Given the description of an element on the screen output the (x, y) to click on. 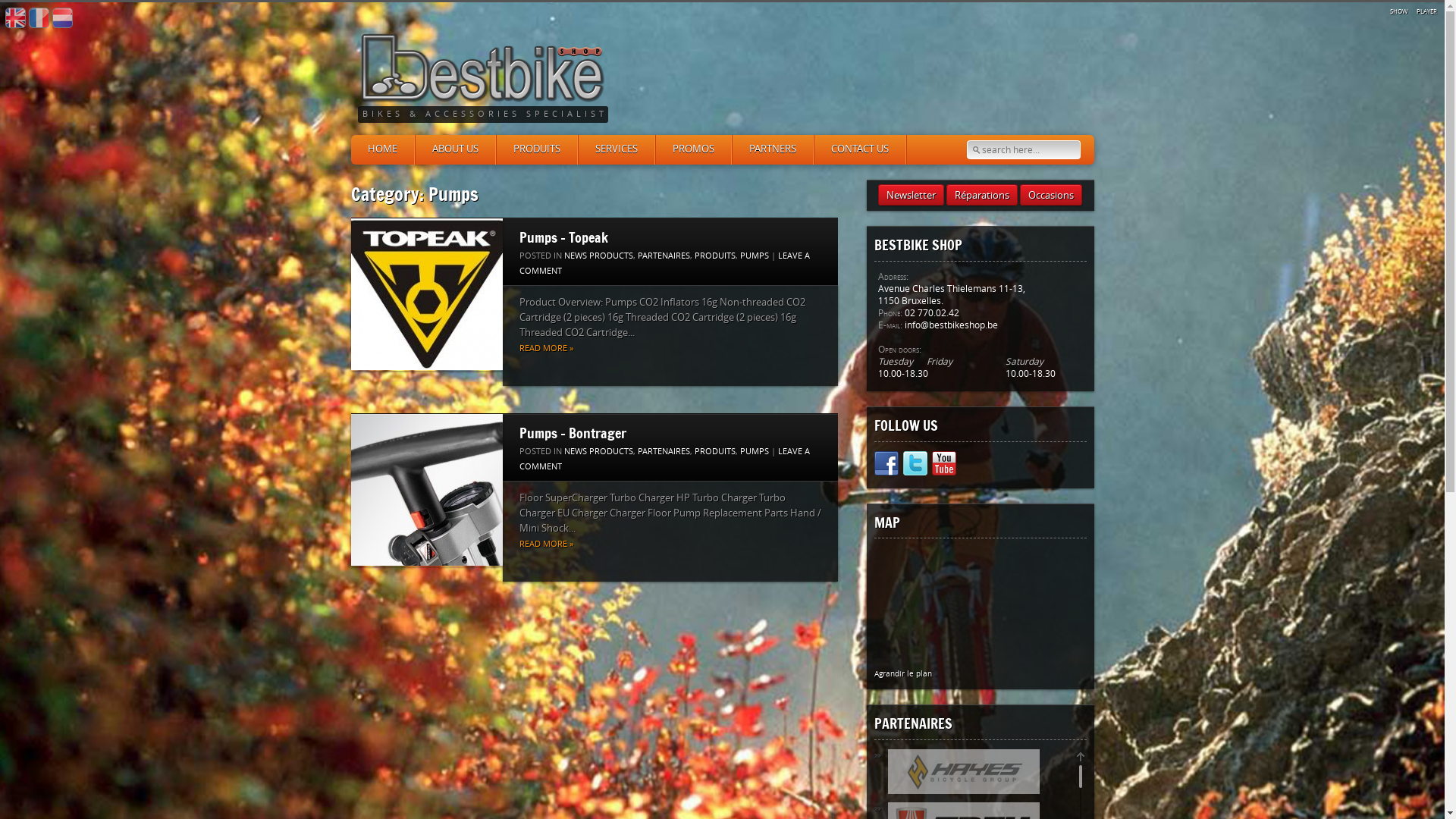
info@bestbikeshop.be Element type: text (950, 325)
PUMPS Element type: text (754, 256)
PARTNERS Element type: text (771, 149)
topeak logo Element type: hover (426, 294)
SERVICES Element type: text (615, 149)
Agrandir le plan Element type: text (902, 673)
Follow me on YouTube Element type: hover (943, 465)
accessories_pumps Element type: hover (426, 489)
PRODUITS Element type: text (714, 256)
HOME Element type: text (381, 149)
Occasions Element type: text (1050, 194)
PRODUITS Element type: text (714, 451)
PUMPS Element type: text (754, 451)
PROMOS Element type: text (693, 149)
PRODUITS Element type: text (536, 149)
CONTACT US Element type: text (858, 149)
PARTENAIRES Element type: text (663, 451)
English Element type: hover (15, 18)
LEAVE A COMMENT Element type: text (663, 459)
Nederlands Element type: hover (62, 18)
NEWS PRODUCTS Element type: text (598, 256)
LEAVE A COMMENT Element type: text (663, 263)
Newsletter Element type: text (911, 194)
Follow me on Twitter Element type: hover (914, 465)
NEWS PRODUCTS Element type: text (598, 451)
Follow me on Facebook Element type: hover (885, 465)
PARTENAIRES Element type: text (663, 256)
ABOUT US Element type: text (454, 149)
